Given the description of an element on the screen output the (x, y) to click on. 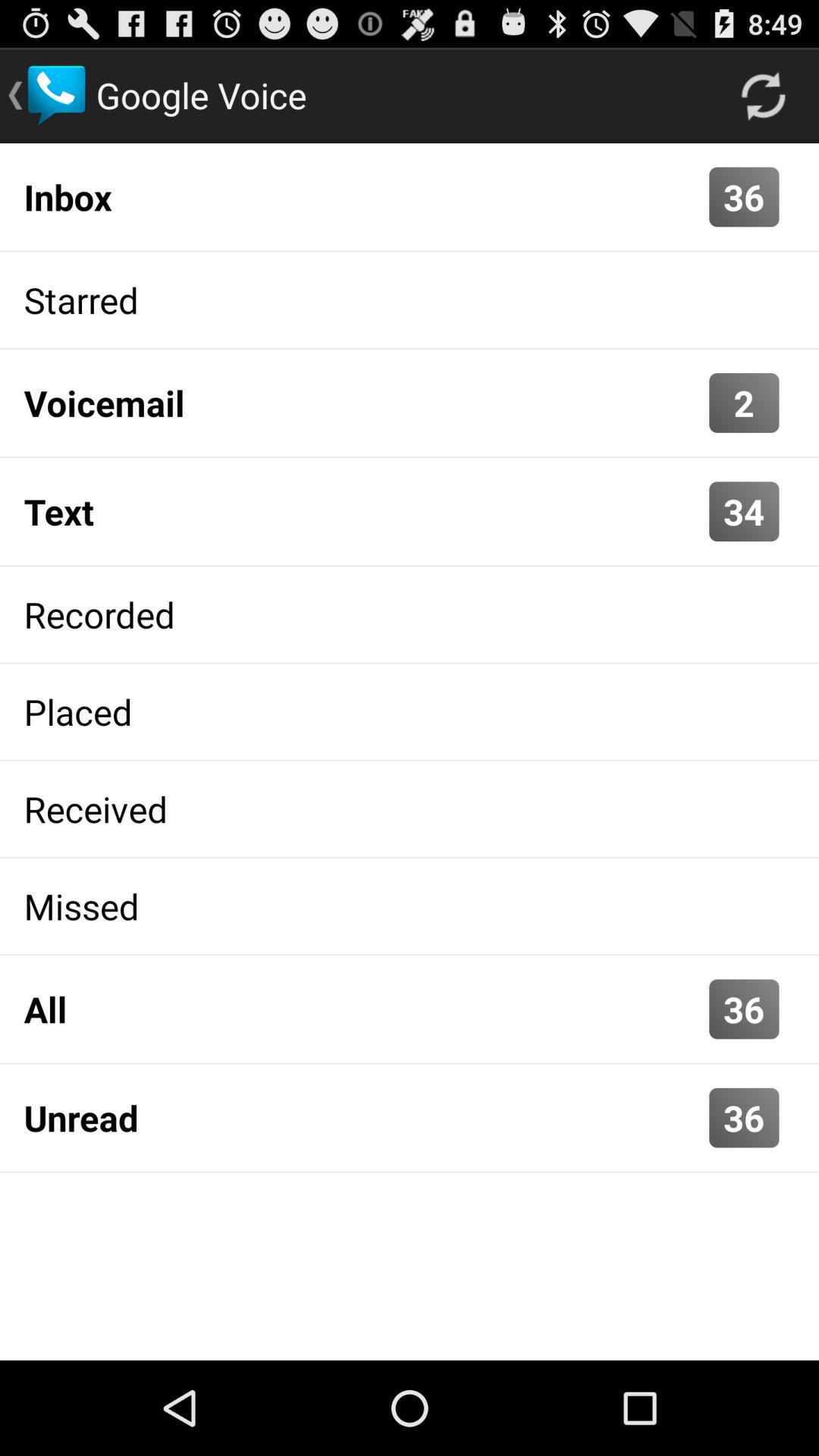
click the icon above 36 app (362, 1009)
